Given the description of an element on the screen output the (x, y) to click on. 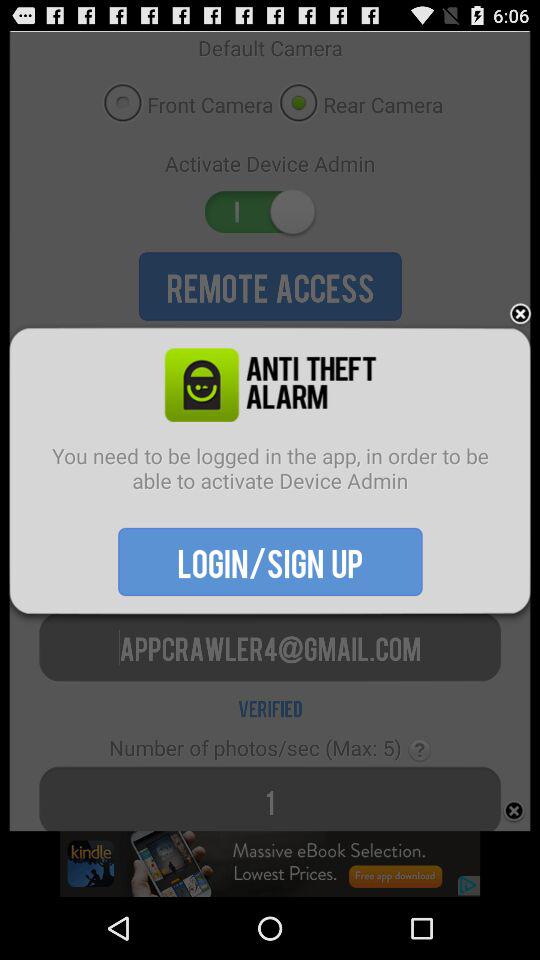
launch the login/sign up icon (270, 561)
